Given the description of an element on the screen output the (x, y) to click on. 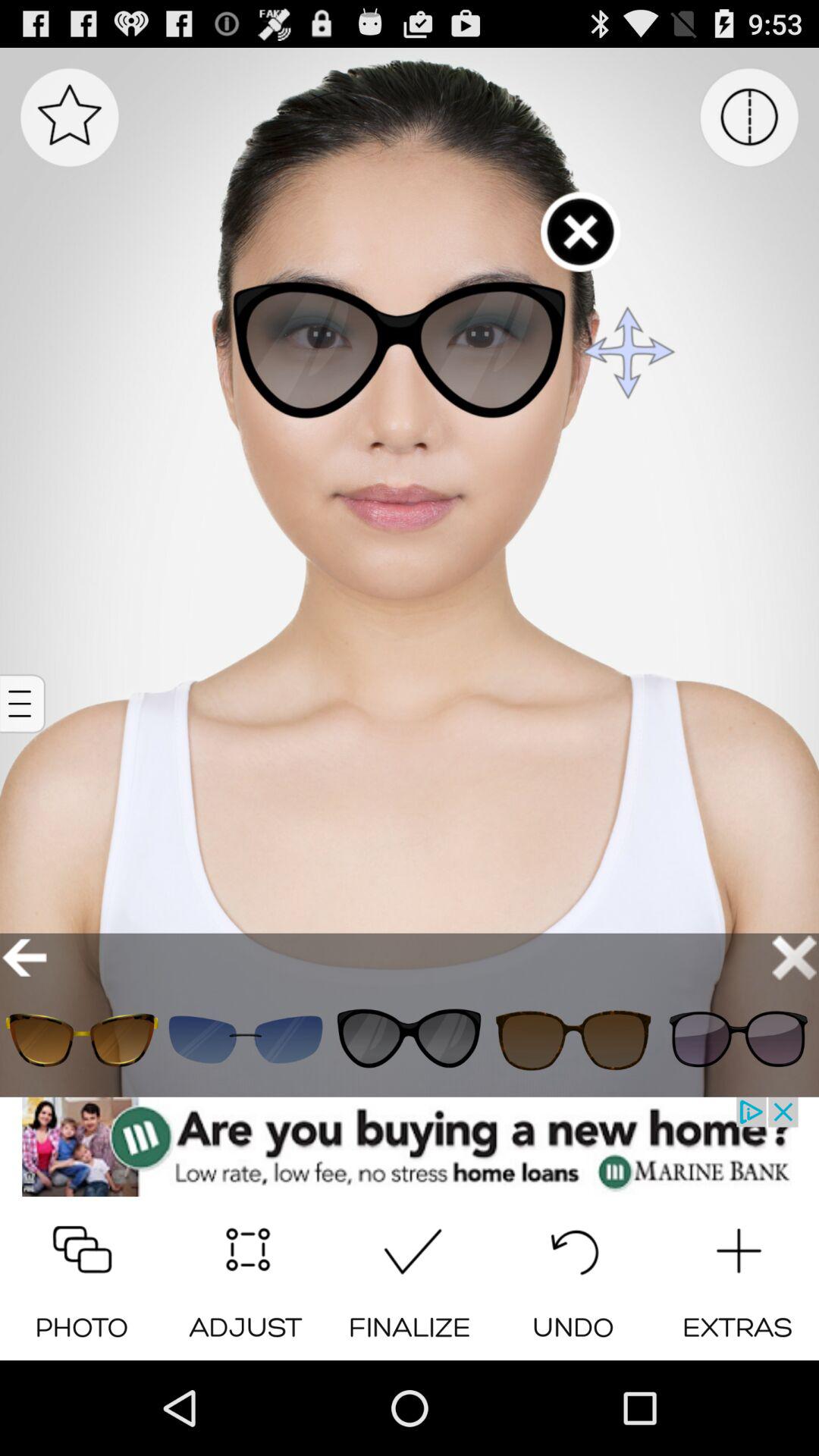
select sunglasses (573, 1039)
